Given the description of an element on the screen output the (x, y) to click on. 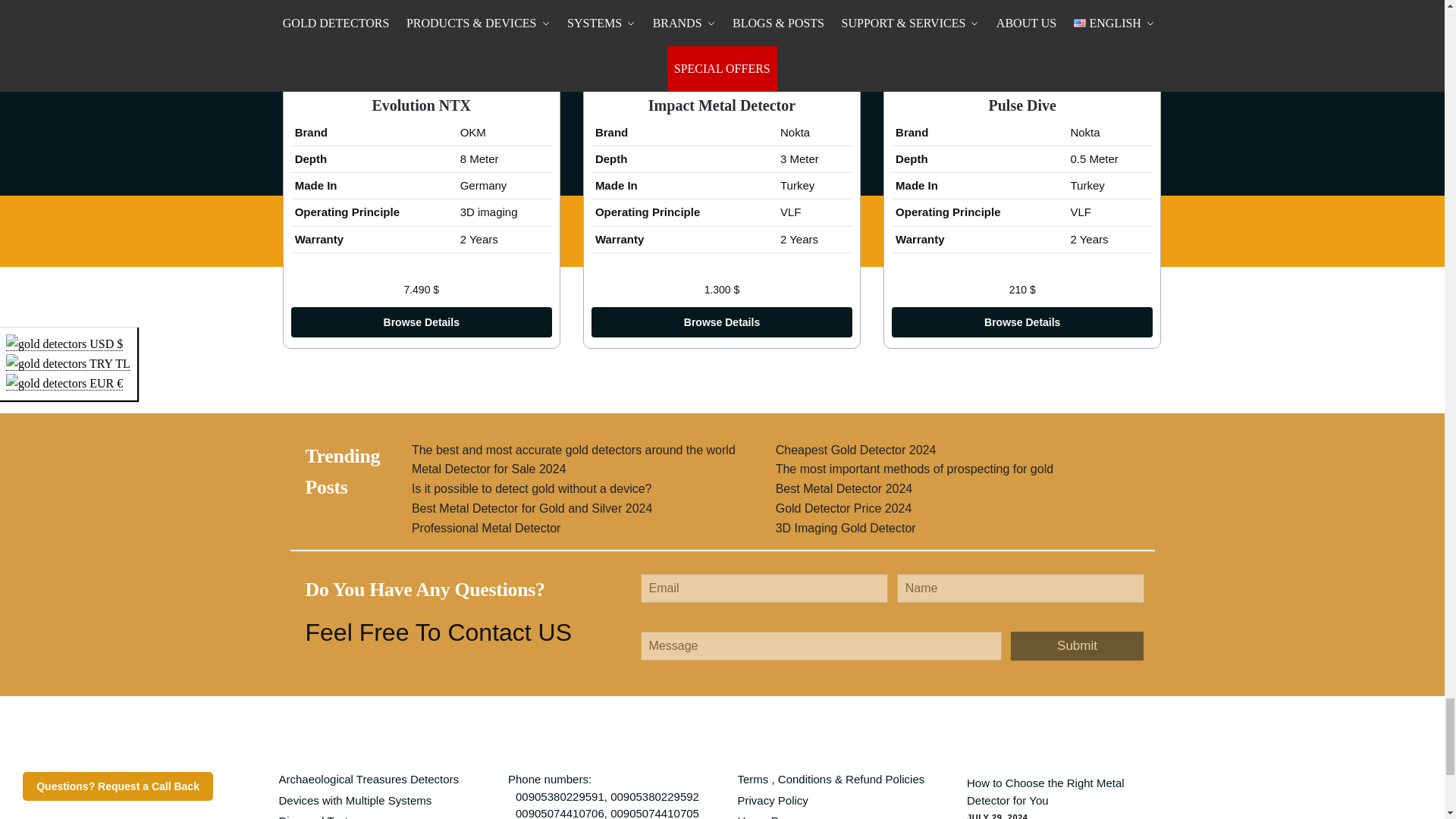
Evolution NTX (421, 28)
Impact Metal Detector (721, 28)
Pulse Dive (1021, 28)
